Given the description of an element on the screen output the (x, y) to click on. 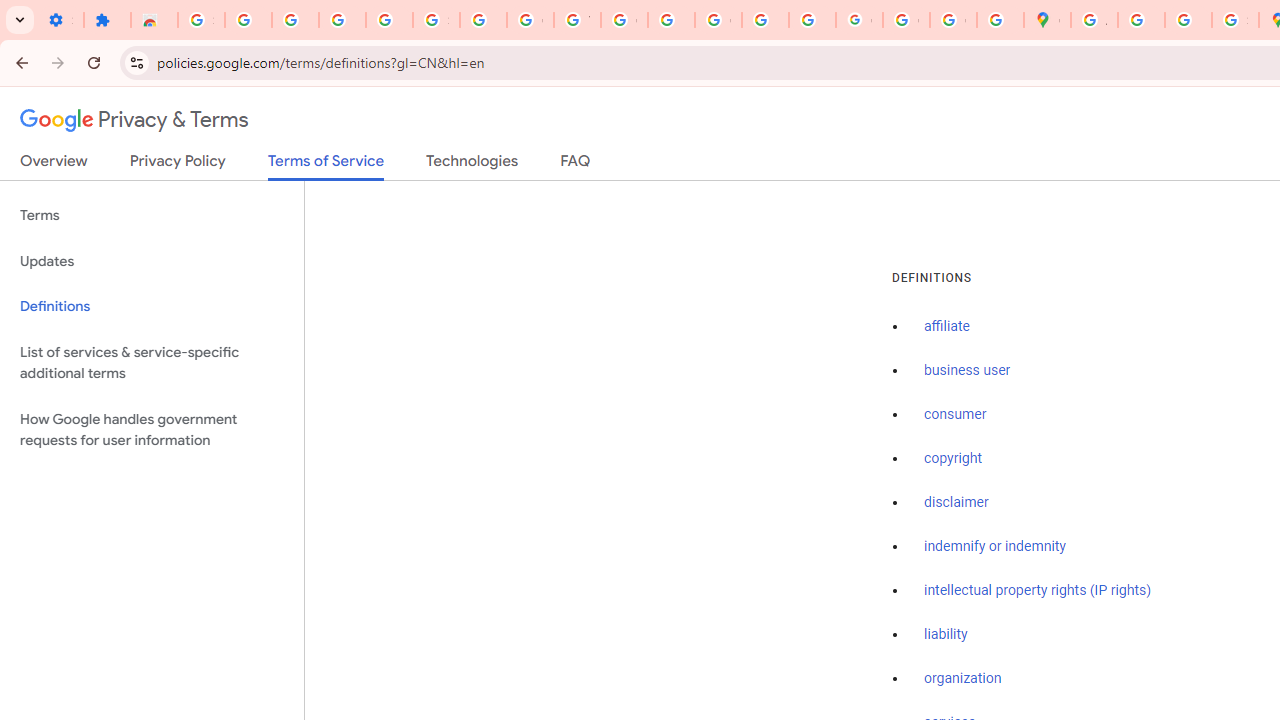
Terms (152, 215)
indemnify or indemnity (995, 546)
Google Account (530, 20)
copyright (952, 459)
https://scholar.google.com/ (671, 20)
Sign in - Google Accounts (201, 20)
affiliate (947, 327)
How Google handles government requests for user information (152, 429)
business user (967, 371)
organization (963, 679)
